Given the description of an element on the screen output the (x, y) to click on. 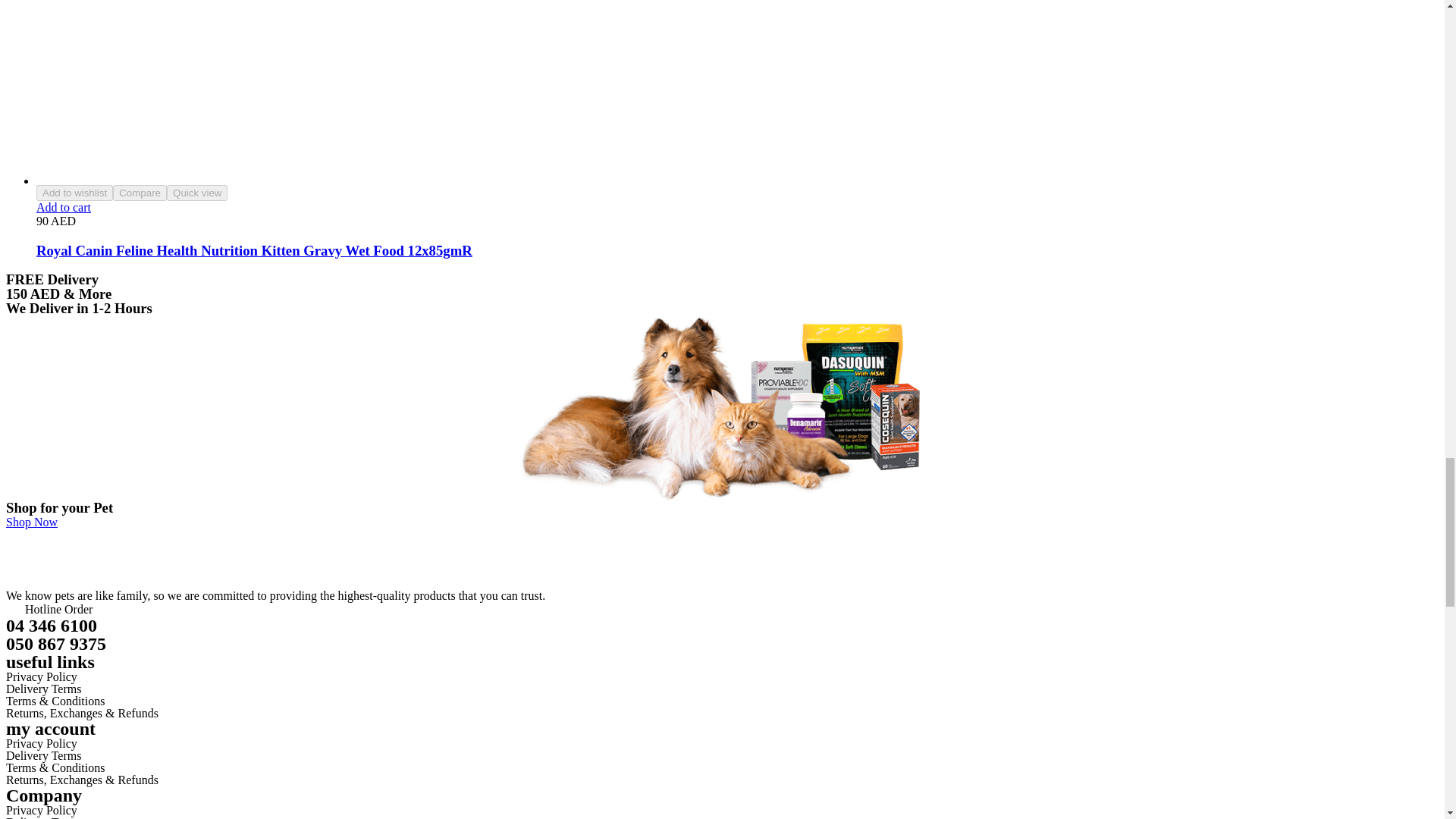
Shop Now (31, 521)
Add to wishlist (74, 192)
Compare (140, 192)
Quick view (197, 192)
Add to cart (63, 206)
